Given the description of an element on the screen output the (x, y) to click on. 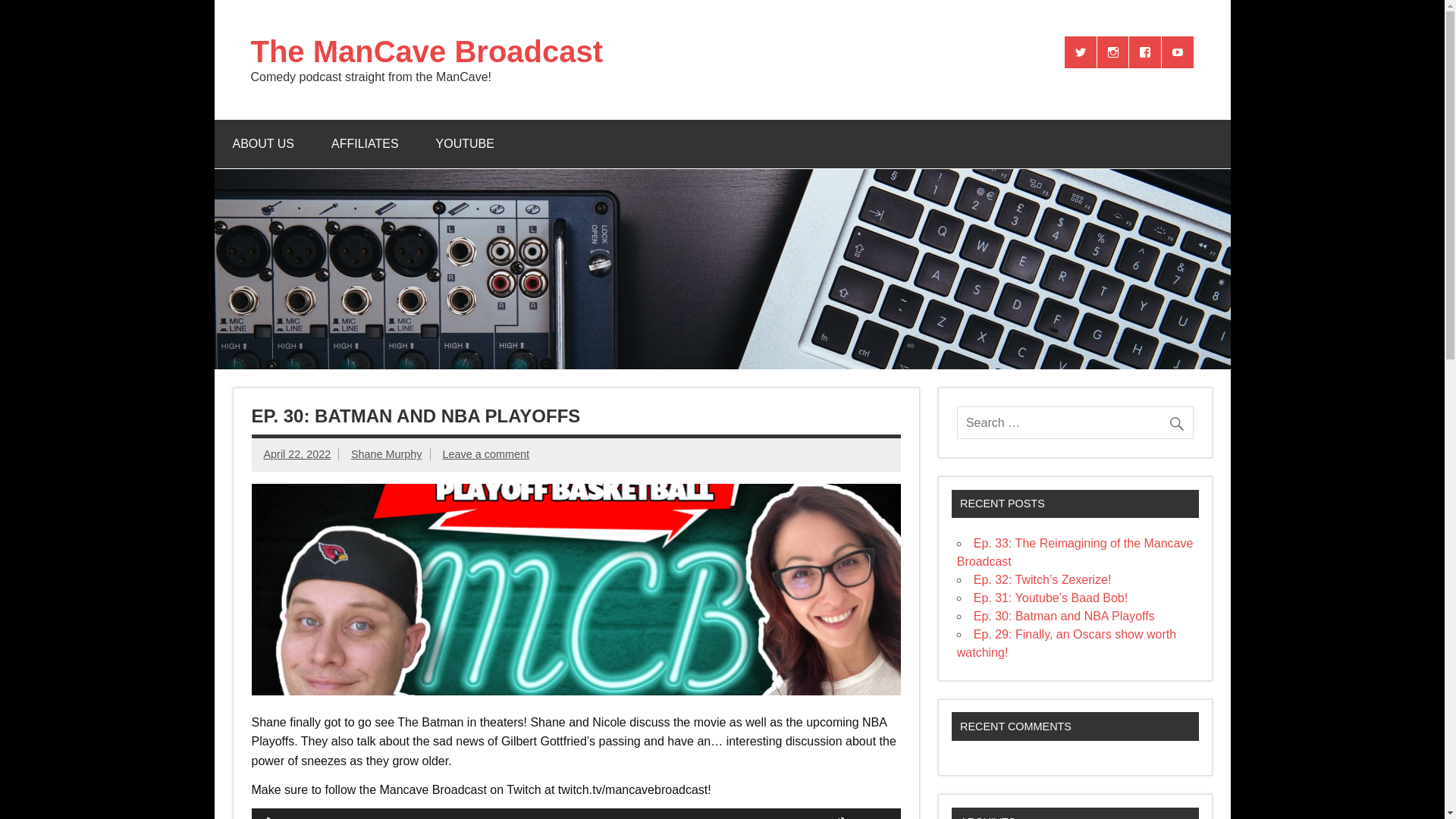
Ep. 29: Finally, an Oscars show worth watching! (1066, 643)
April 22, 2022 (297, 453)
ABOUT US (263, 143)
AFFILIATES (364, 143)
Mute (838, 817)
Shane Murphy (386, 453)
Play (271, 817)
2:14 pm (297, 453)
The ManCave Broadcast (426, 51)
Ep. 30: Batman and NBA Playoffs (1064, 615)
Leave a comment (485, 453)
Ep. 33: The Reimagining of the Mancave Broadcast (1074, 552)
YOUTUBE (464, 143)
View all posts by Shane Murphy (386, 453)
